Given the description of an element on the screen output the (x, y) to click on. 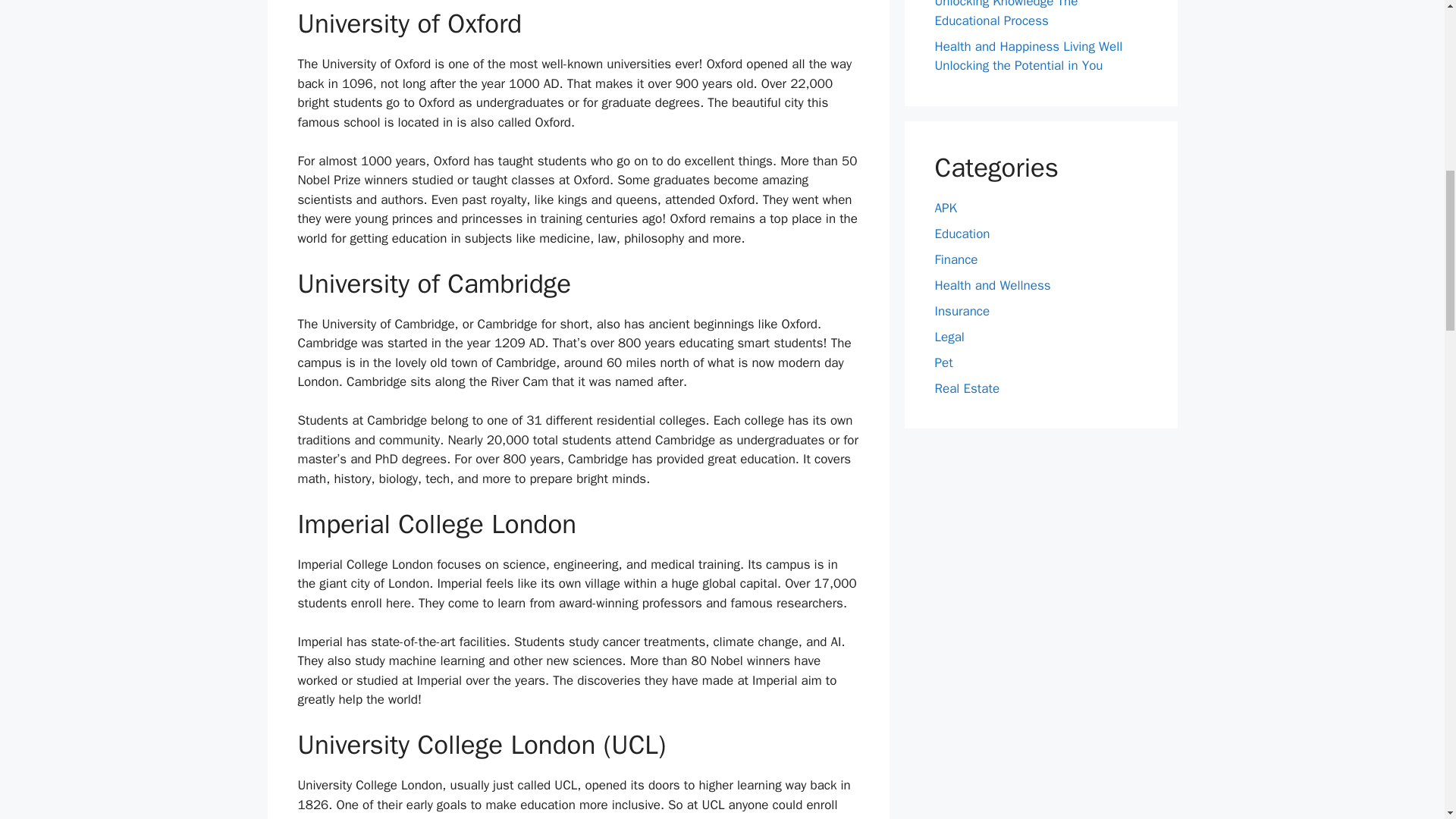
Legal (948, 336)
Unlocking Knowledge The Educational Process (1005, 14)
APK (945, 207)
Insurance (962, 311)
Health and Wellness (991, 285)
Education (962, 233)
Finance (955, 259)
Real Estate (966, 388)
Pet (943, 362)
